Given the description of an element on the screen output the (x, y) to click on. 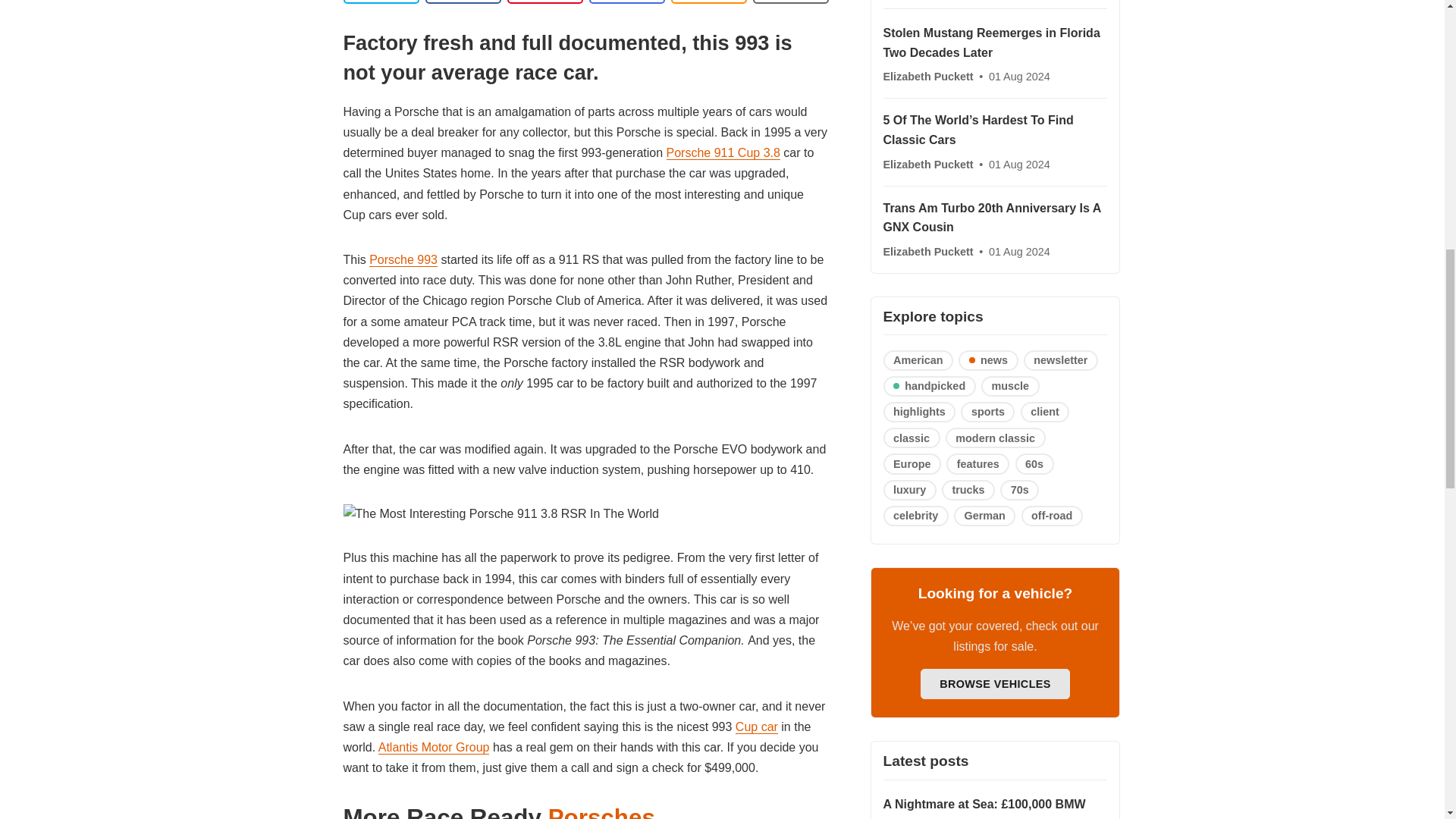
Porsche 993 (403, 259)
Porsche 911 Cup 3.8 (723, 152)
American (917, 360)
Share on Twitter (380, 1)
Atlantis Motor Group (433, 747)
Share on Facebook (462, 1)
Elizabeth Puckett (928, 251)
Elizabeth Puckett (928, 164)
newsletter (1060, 360)
Bookmark (790, 1)
Copy to clipboard (707, 1)
Share on Linkedin (544, 1)
Cup car (756, 726)
Elizabeth Puckett (928, 76)
Share by email (625, 1)
